Given the description of an element on the screen output the (x, y) to click on. 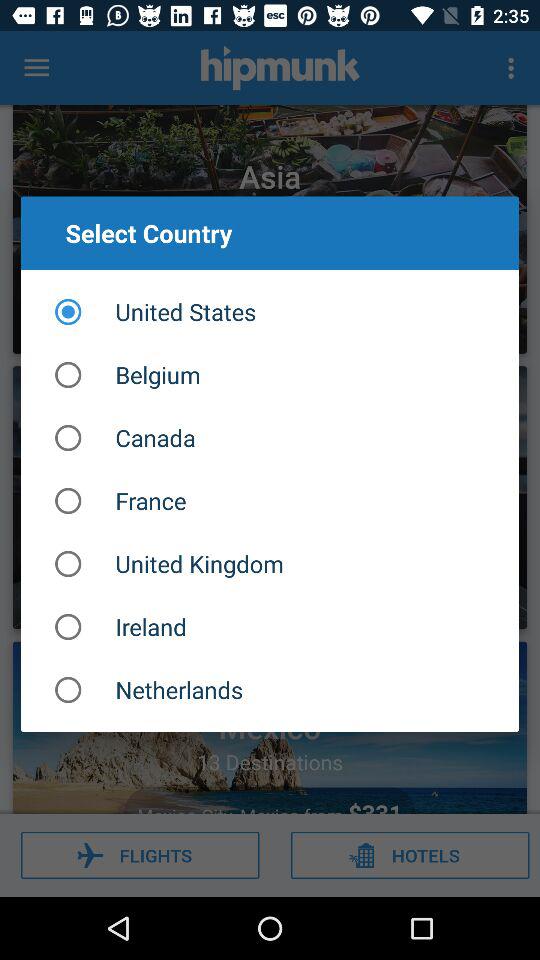
tap the item below france icon (270, 563)
